Given the description of an element on the screen output the (x, y) to click on. 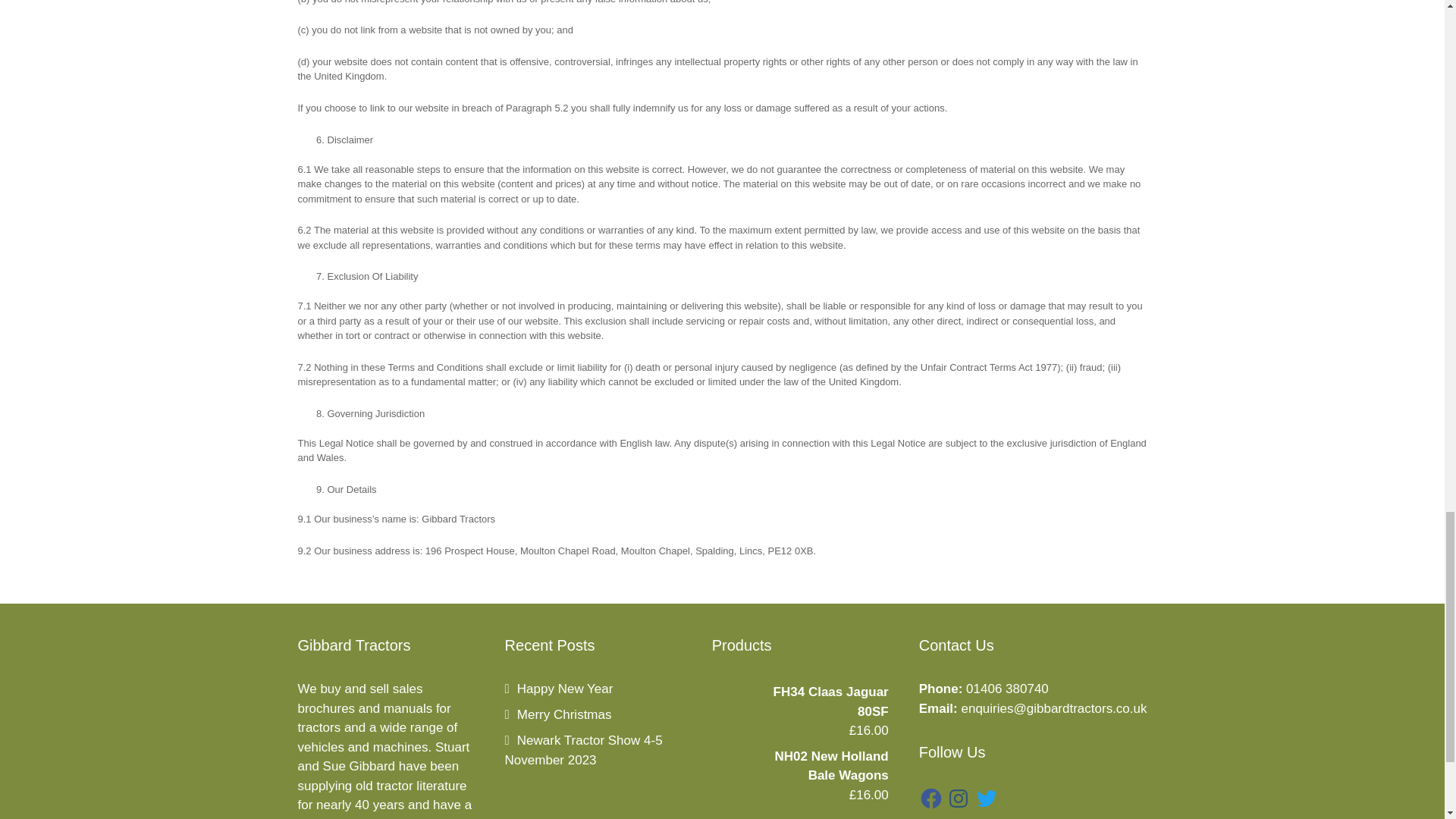
Facebook (930, 798)
Newark Tractor Show 4-5 November 2023 (583, 750)
Instagram (958, 798)
Twitter (986, 798)
Merry Christmas (558, 714)
FH34 Claas Jaguar 80SF (799, 701)
NH02 New Holland Bale Wagons (799, 765)
Happy New Year (558, 688)
